Given the description of an element on the screen output the (x, y) to click on. 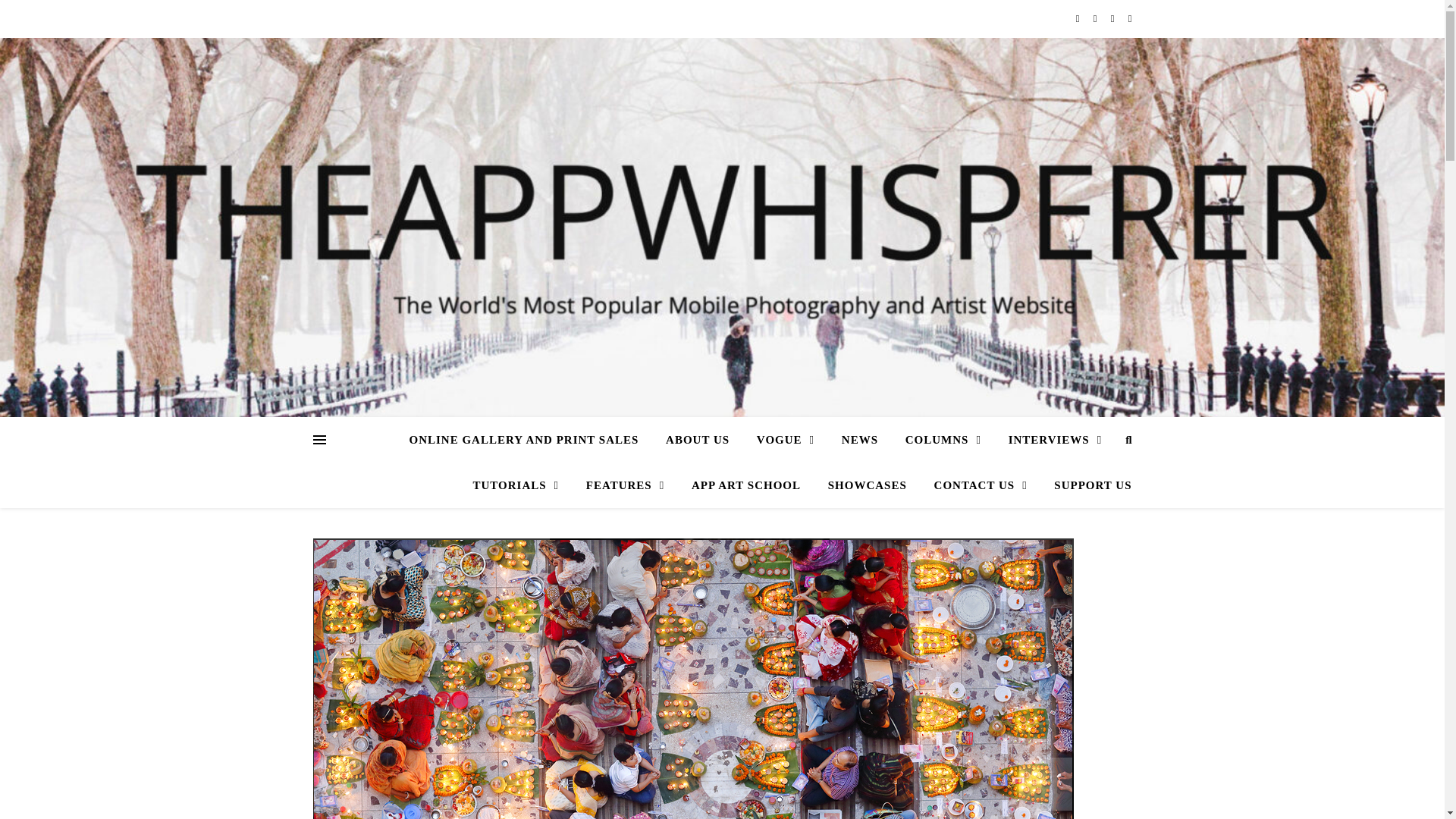
ONLINE GALLERY AND PRINT SALES (529, 439)
NEWS (859, 439)
COLUMNS (942, 439)
VOGUE (785, 439)
ABOUT US (697, 439)
